Given the description of an element on the screen output the (x, y) to click on. 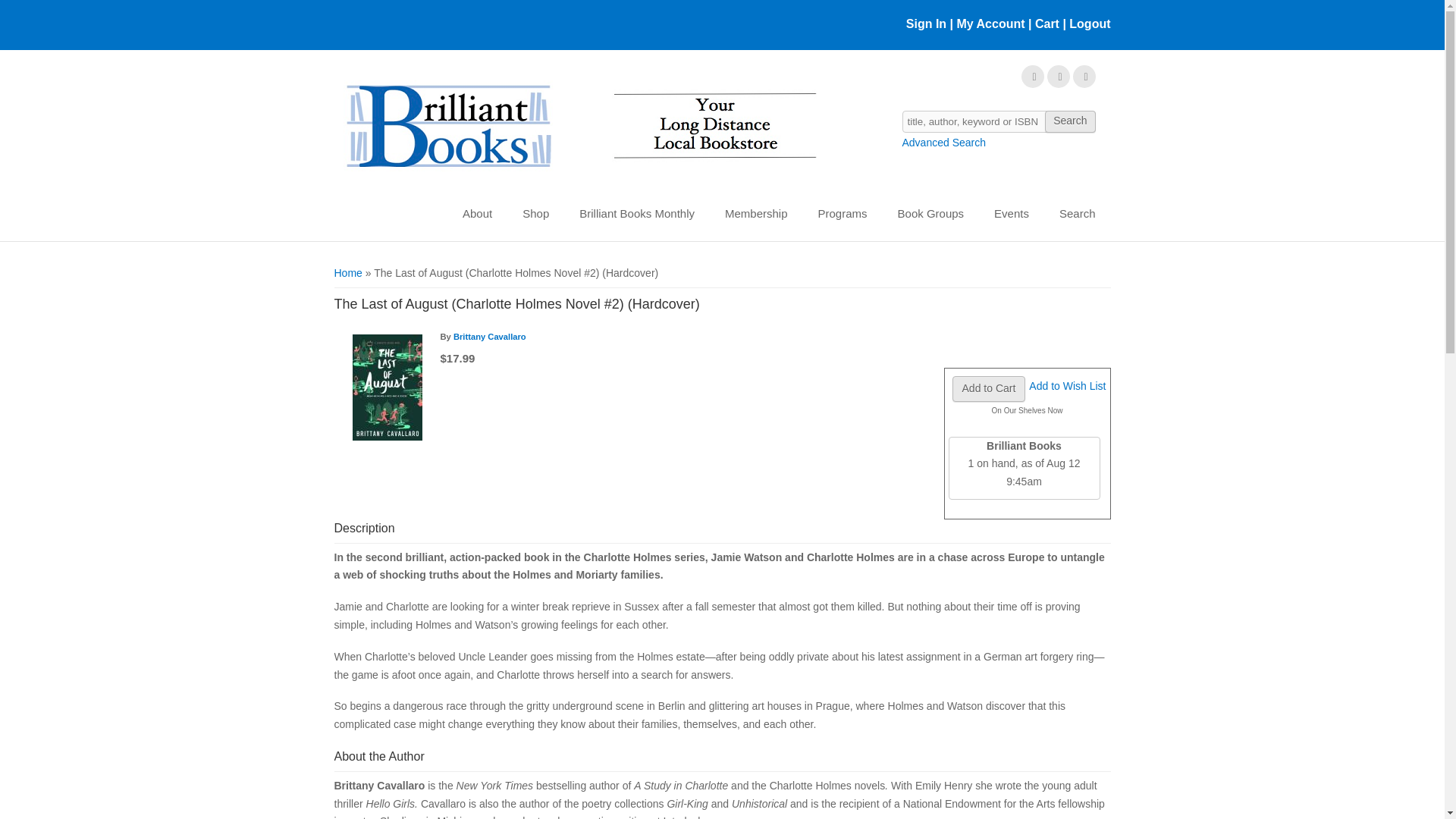
Logout (1087, 23)
Sign In (925, 23)
Enter the terms you wish to search for. (999, 121)
Search (1069, 121)
Home (579, 127)
About (476, 213)
Cart (1047, 23)
Advanced Search (944, 142)
Shop (535, 213)
Search (1069, 121)
